Given the description of an element on the screen output the (x, y) to click on. 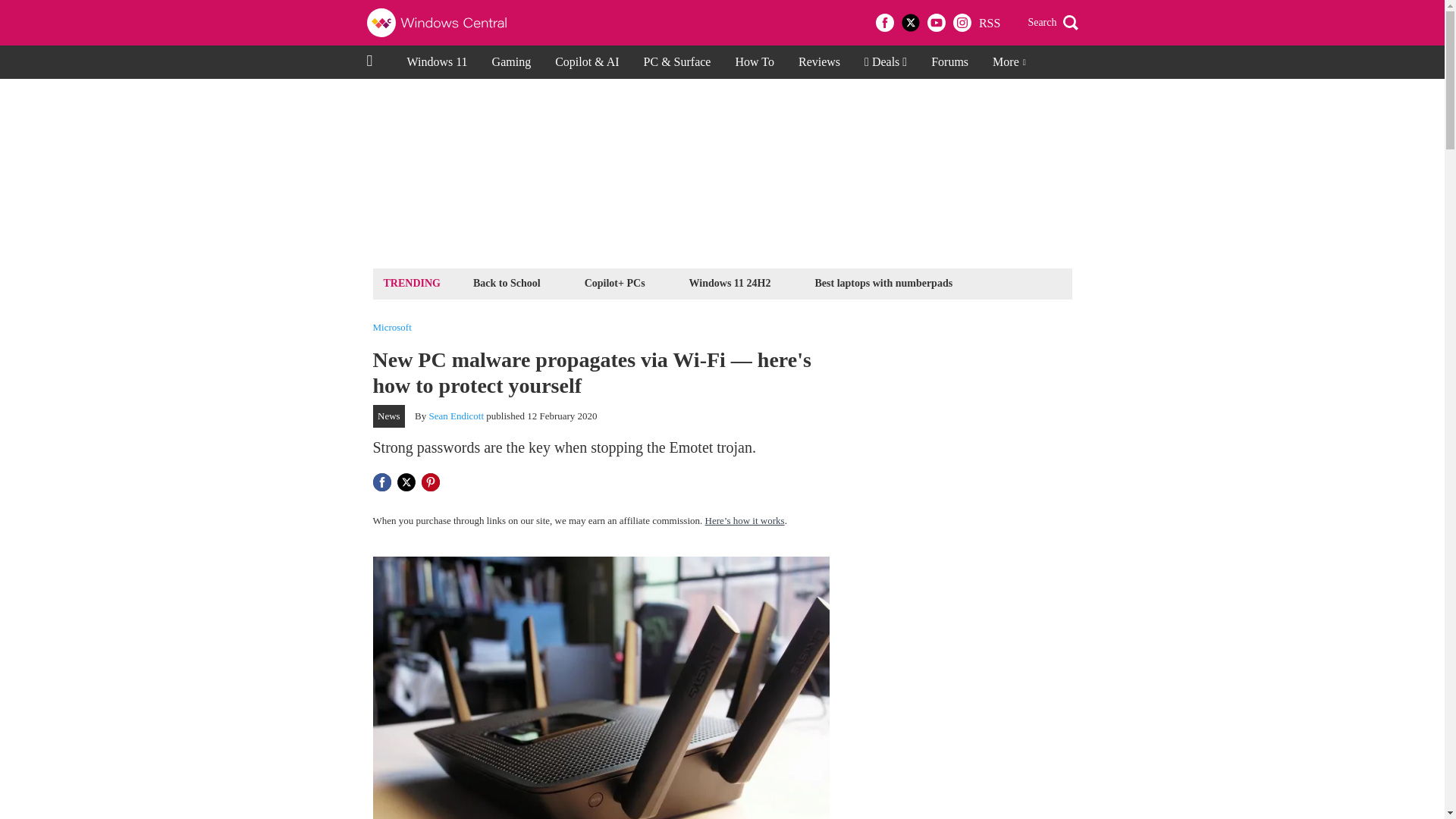
Windows 11 24H2 (730, 282)
News (389, 415)
Best laptops with numberpads (883, 282)
Back to School (506, 282)
How To (754, 61)
Microsoft (392, 327)
Reviews (818, 61)
RSS (989, 22)
Forums (948, 61)
Gaming (511, 61)
